Given the description of an element on the screen output the (x, y) to click on. 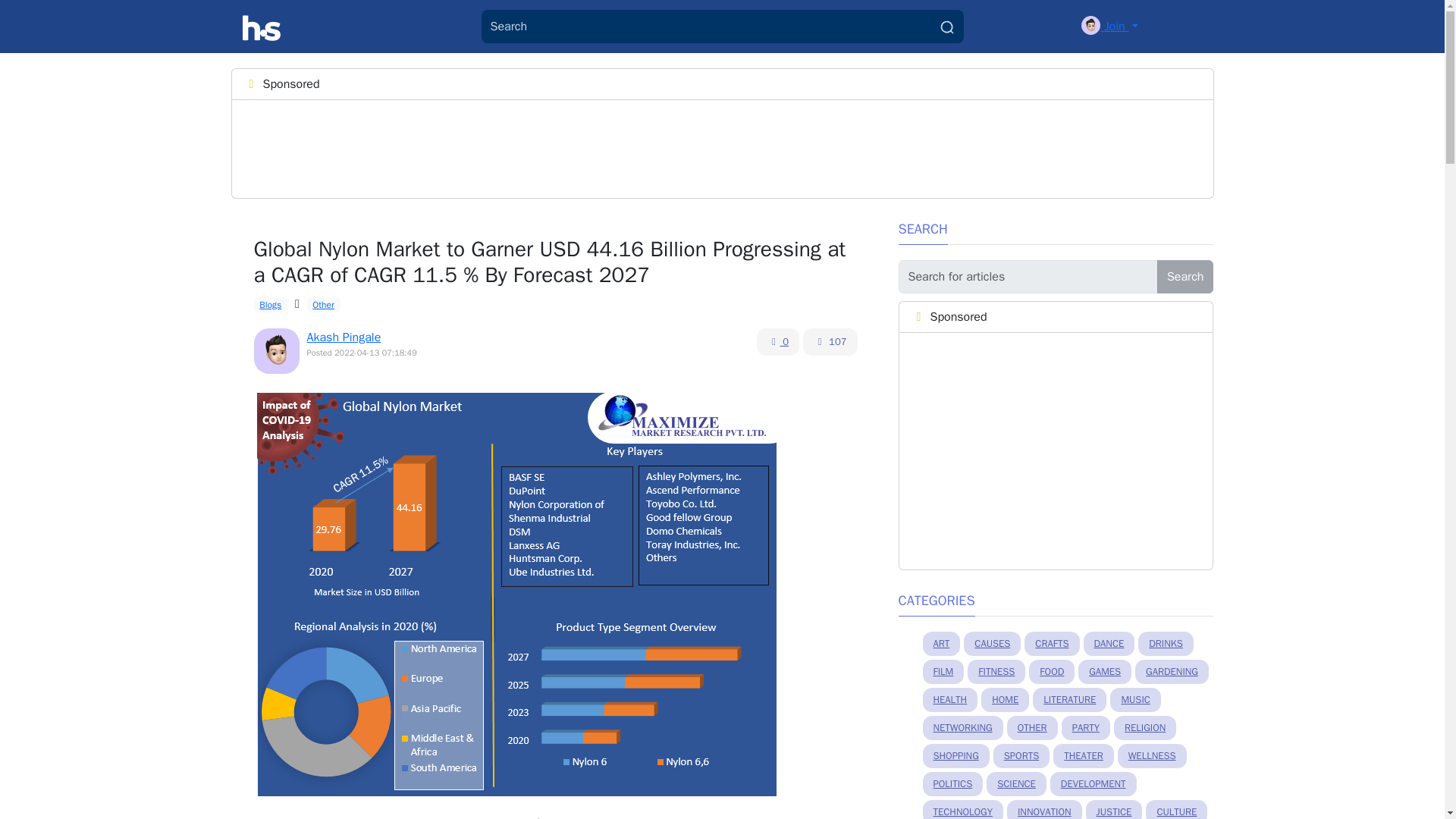
CAUSES (991, 643)
Akash Pingale (342, 337)
Advertisement (520, 146)
FILM (942, 671)
Advertisement (1056, 450)
GARDENING (1171, 671)
FITNESS (996, 671)
Join (1109, 26)
0 (778, 341)
FOOD (1051, 671)
Other (323, 304)
DANCE (1108, 643)
Blogs (269, 304)
GAMES (1104, 671)
CRAFTS (1051, 643)
